Given the description of an element on the screen output the (x, y) to click on. 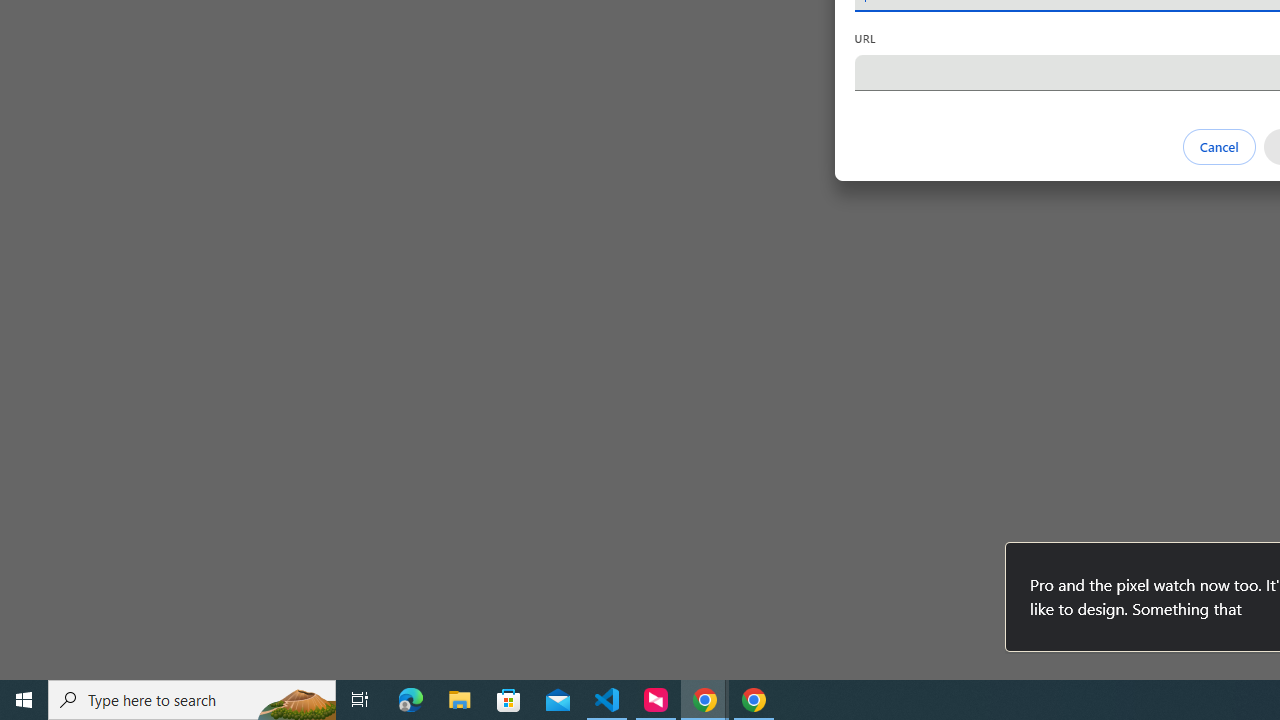
Cancel (1218, 146)
